Given the description of an element on the screen output the (x, y) to click on. 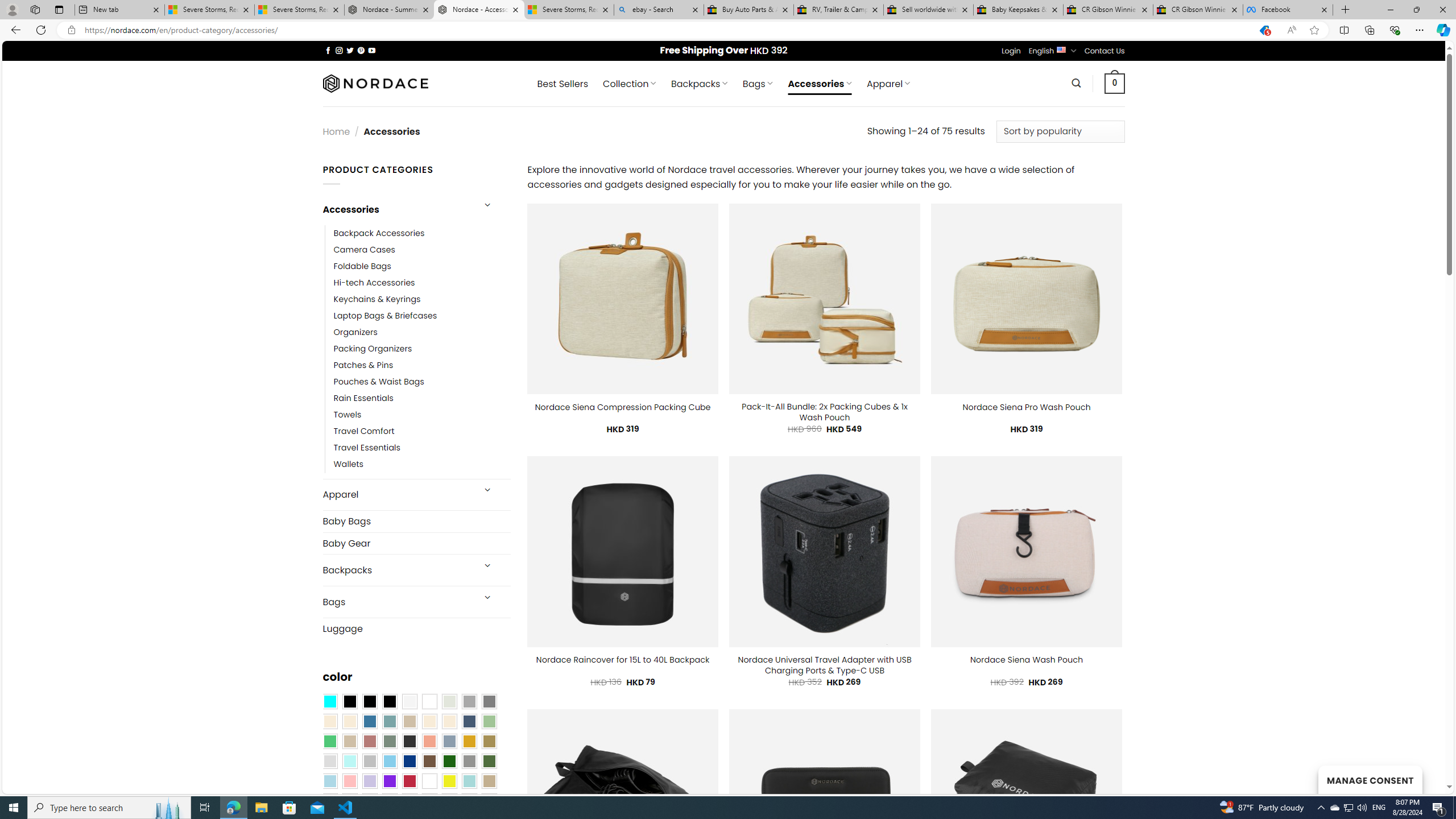
Follow on Pinterest (360, 49)
RV, Trailer & Camper Steps & Ladders for sale | eBay (838, 9)
Wallets (422, 464)
Light Gray (329, 761)
Light Taupe (349, 741)
Brownie (408, 721)
Blue (369, 721)
Packing Organizers (422, 348)
Organizers (355, 332)
Green (488, 761)
